Given the description of an element on the screen output the (x, y) to click on. 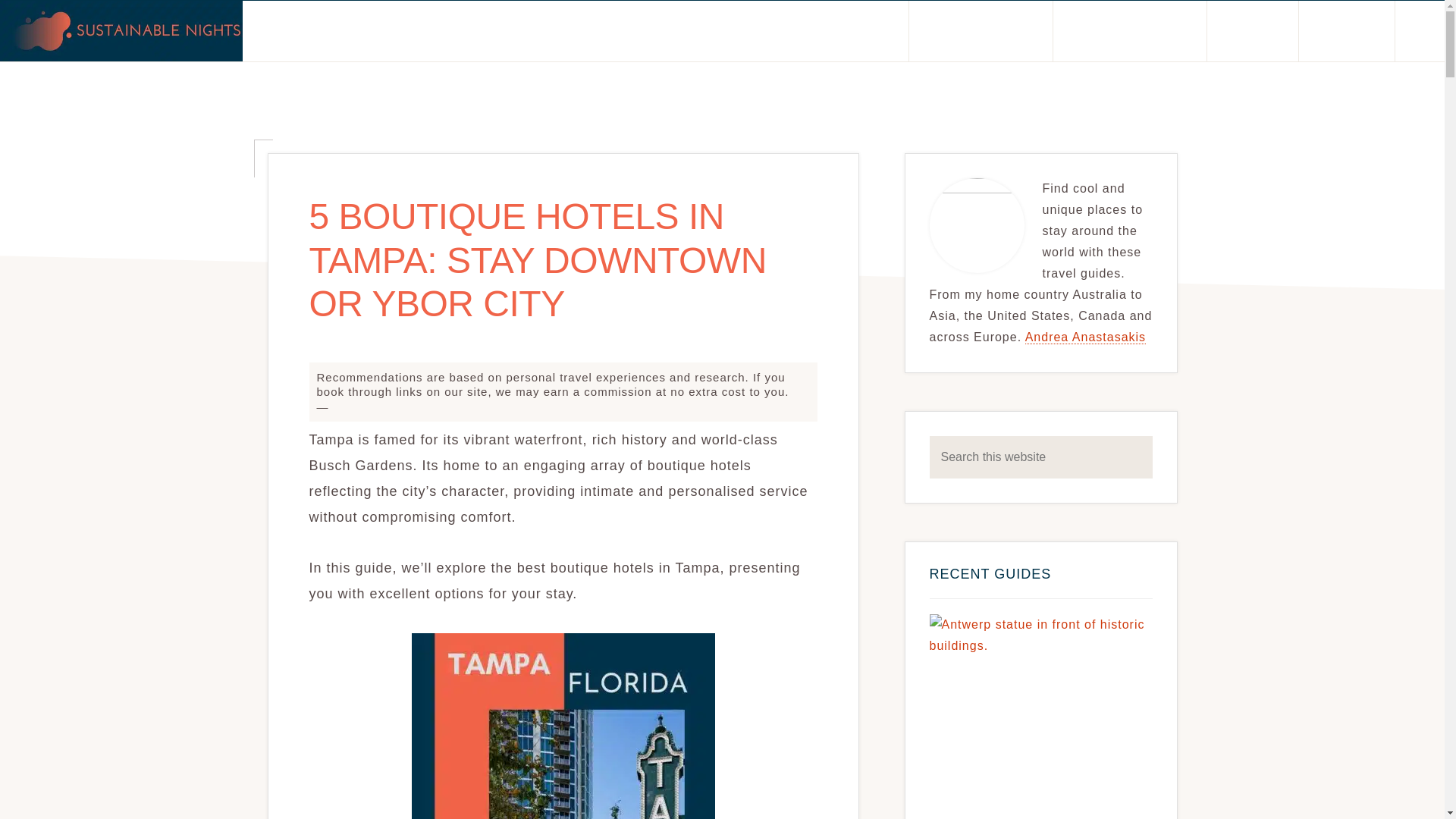
DESTINATIONS (980, 30)
LATEST (1345, 30)
SHOW SEARCH (1419, 30)
TOURS (1252, 30)
SUSTAINABILITY (1129, 30)
ABOUT (862, 30)
